Given the description of an element on the screen output the (x, y) to click on. 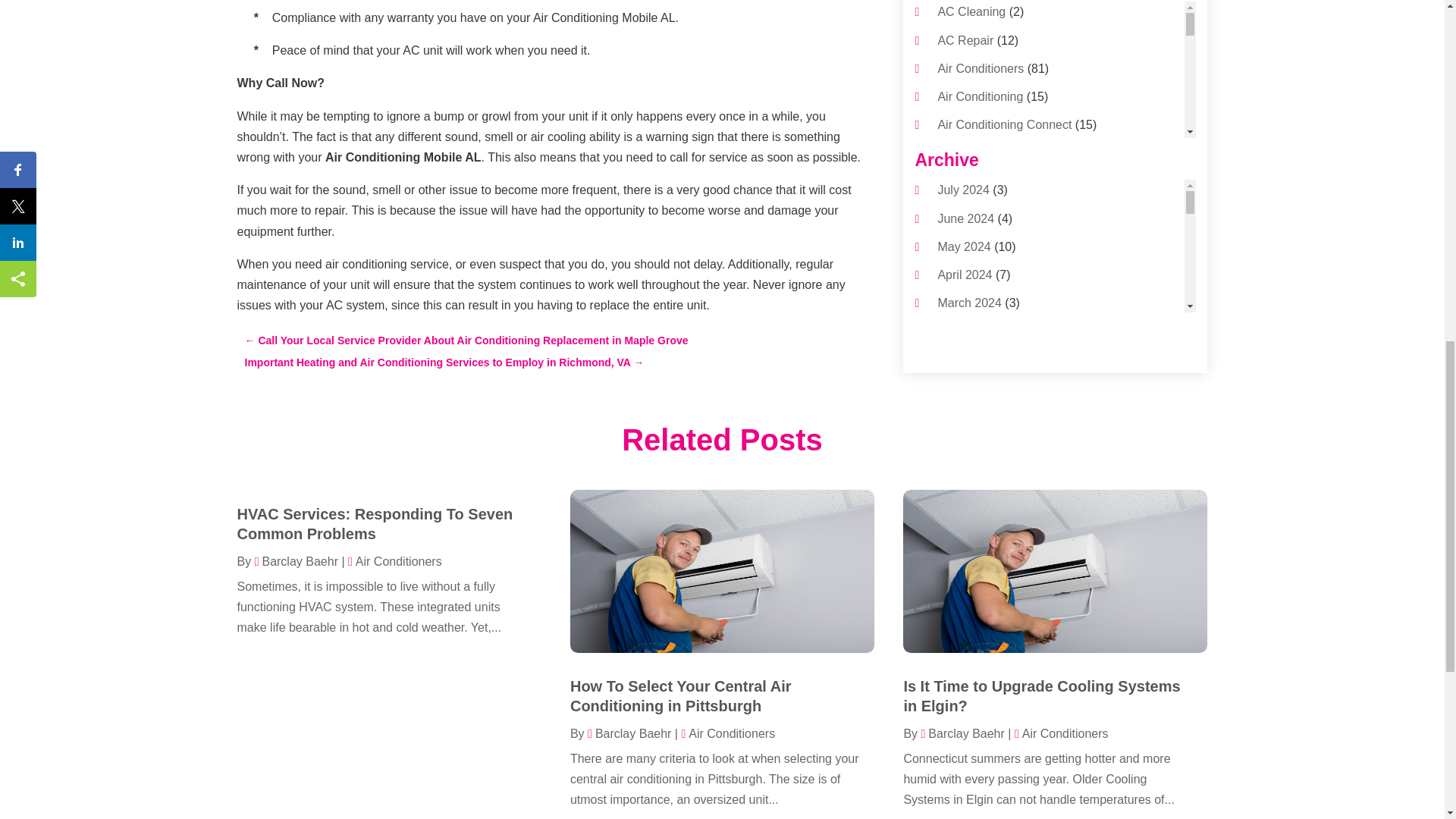
AC Cleaning (971, 11)
Electrician (964, 350)
Commercial Air Conditioning (1013, 265)
Posts by Barclay Baehr (629, 733)
Air Conditioning Contractors (1013, 152)
Posts by Barclay Baehr (295, 561)
AC Repair (964, 40)
Air Conditioners (980, 68)
Heating (957, 434)
Air Conditioning (980, 96)
Commercial AC Services (1004, 237)
Heating And Air Conditioning (1014, 519)
Heat Pump Repair (986, 406)
Air Conditioning Service (1002, 209)
Heat And Air (970, 378)
